Given the description of an element on the screen output the (x, y) to click on. 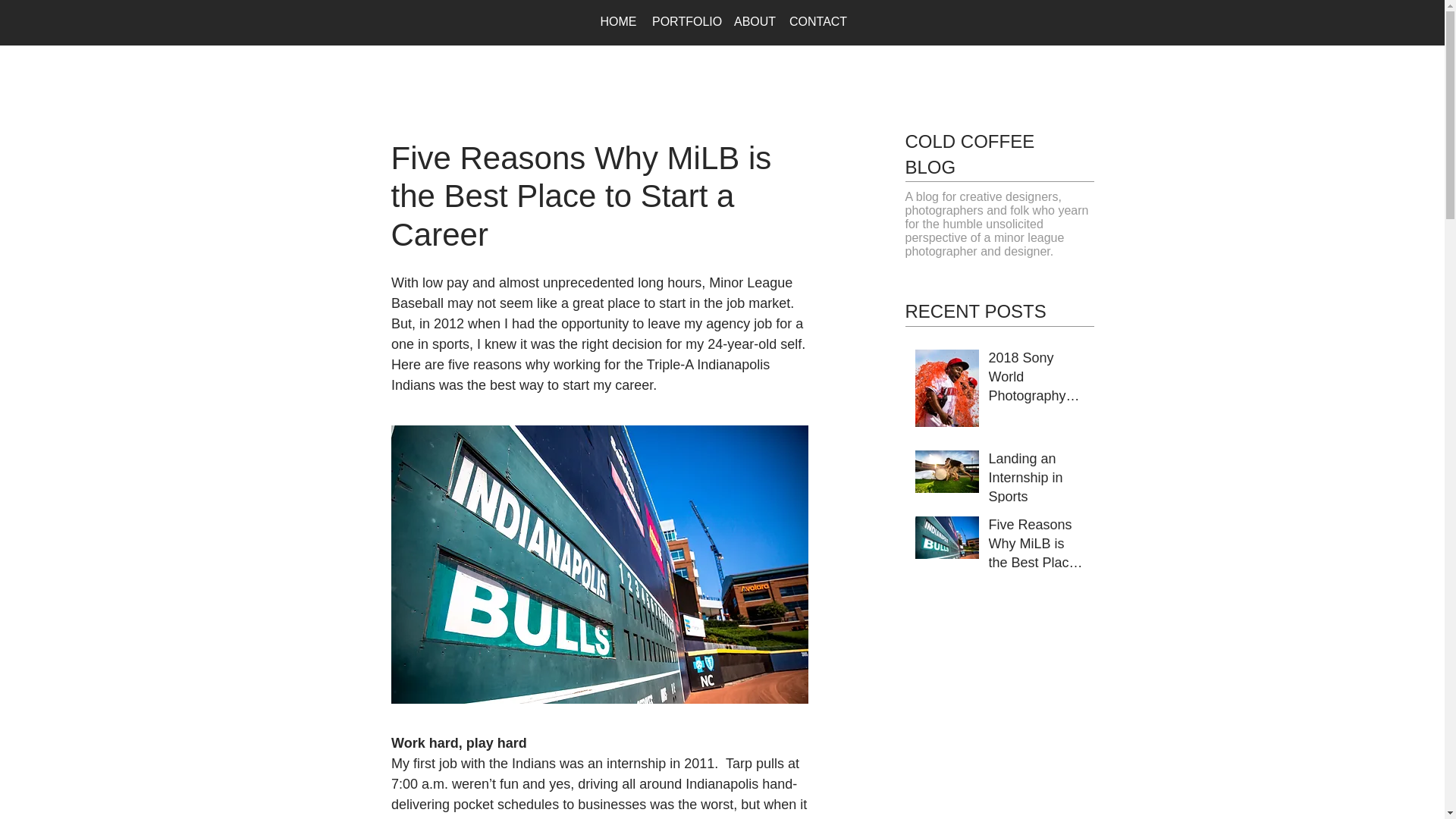
HOME (618, 21)
Five Reasons Why MiLB is the Best Place to Start a Career (1036, 547)
Landing an Internship in Sports (1036, 481)
PORTFOLIO (685, 21)
ABOUT (753, 21)
2018 Sony World Photography Awards (1036, 380)
CONTACT (816, 21)
COLD COFFEE BLOG (970, 154)
